Given the description of an element on the screen output the (x, y) to click on. 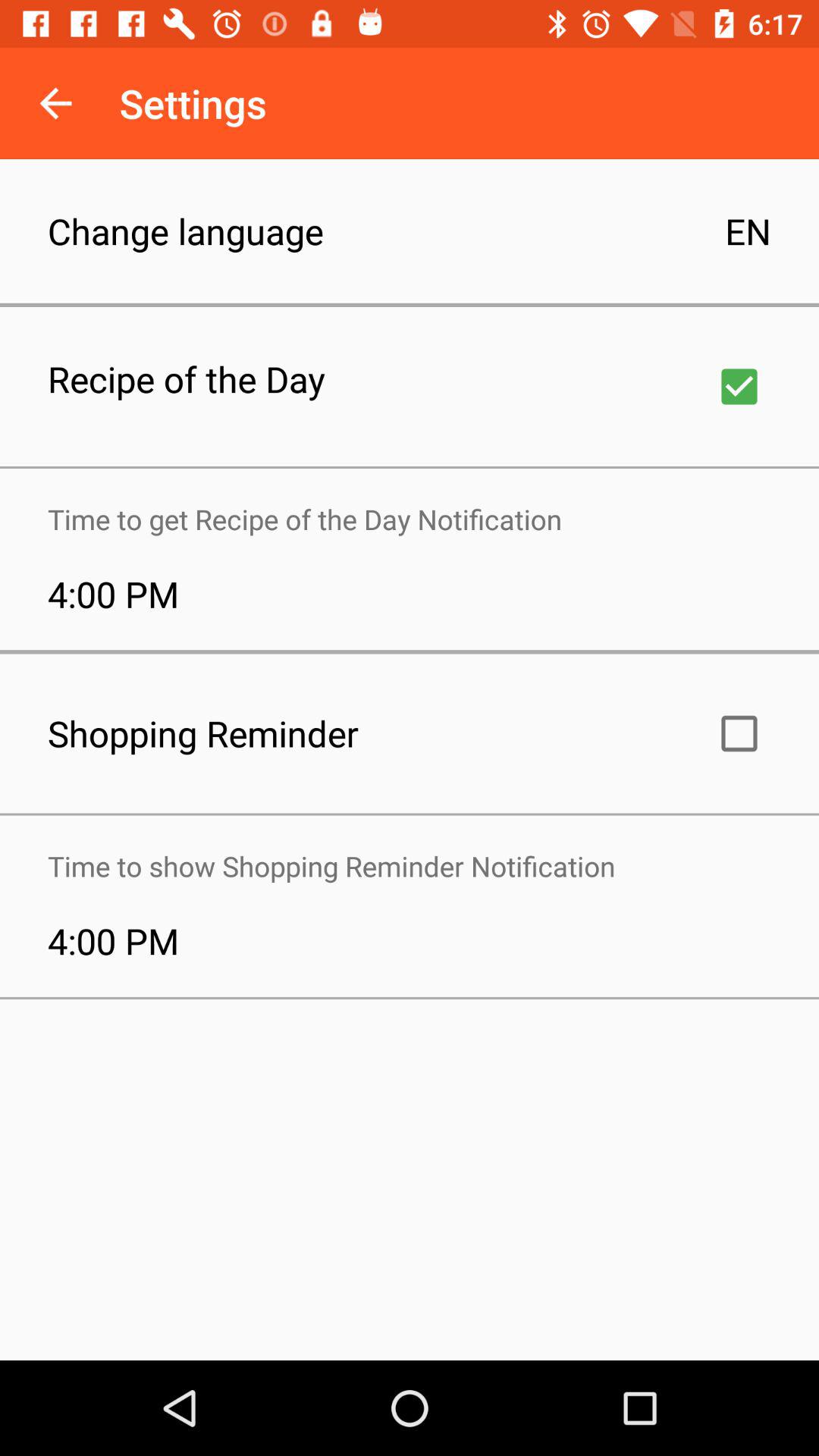
open icon above change language icon (55, 103)
